Given the description of an element on the screen output the (x, y) to click on. 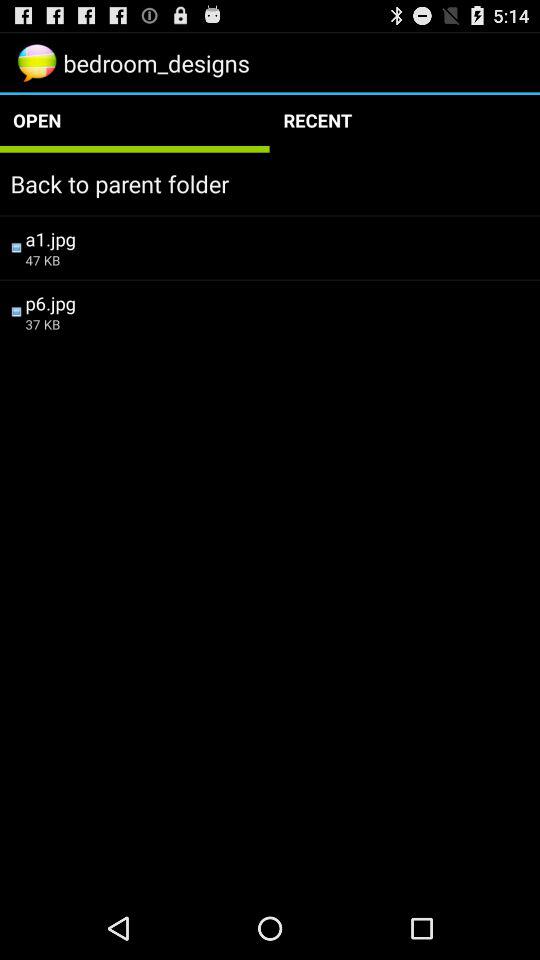
jump to the p6.jpg (277, 302)
